Given the description of an element on the screen output the (x, y) to click on. 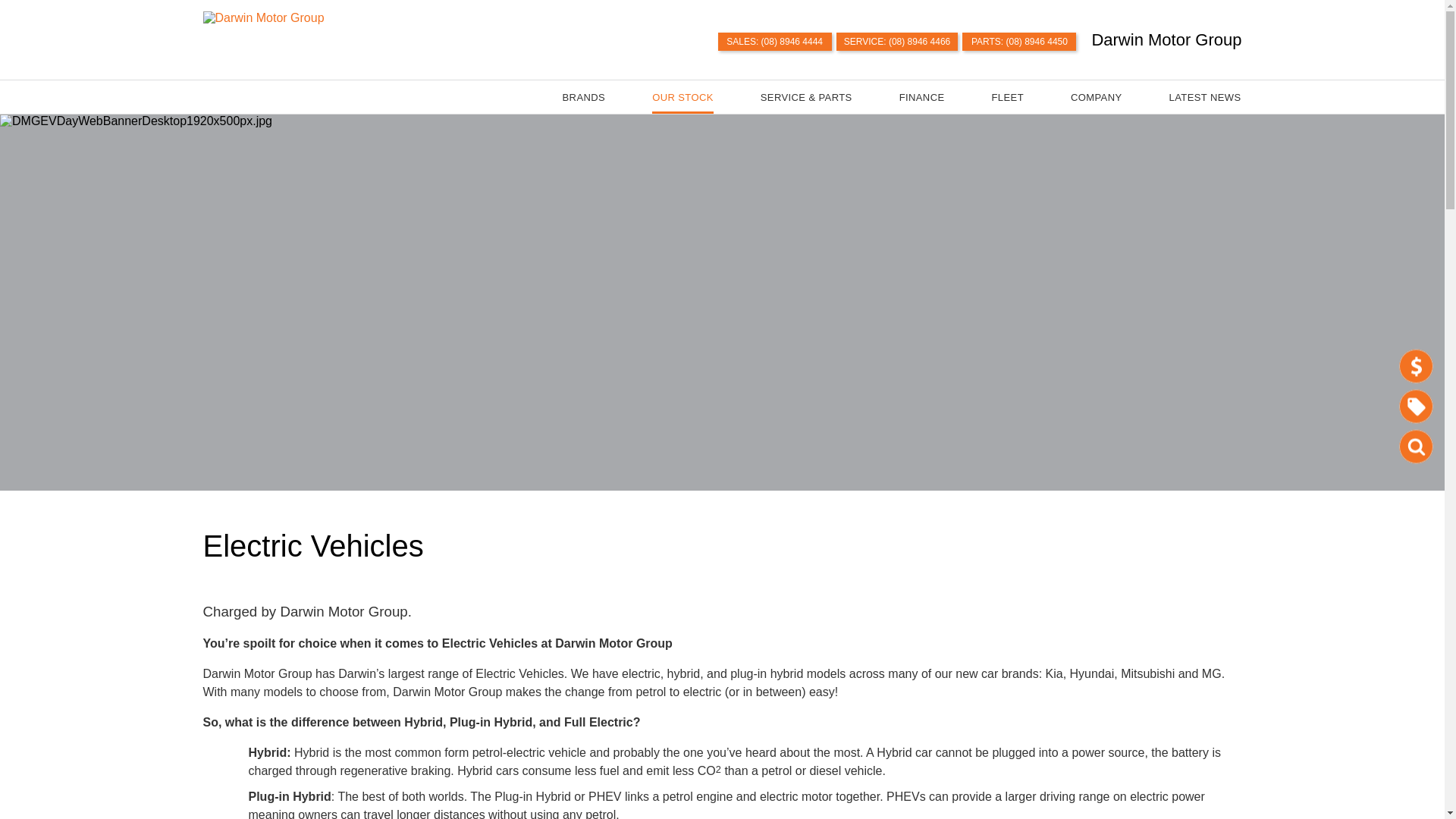
OFFERS (1415, 406)
BRANDS (583, 96)
FLEET (1007, 96)
FINANCE (921, 96)
ENQUIRY (1415, 365)
COMPANY (1096, 96)
OUR STOCK (682, 96)
OUR STOCK (1418, 447)
Darwin Motor Group (1165, 39)
